Given the description of an element on the screen output the (x, y) to click on. 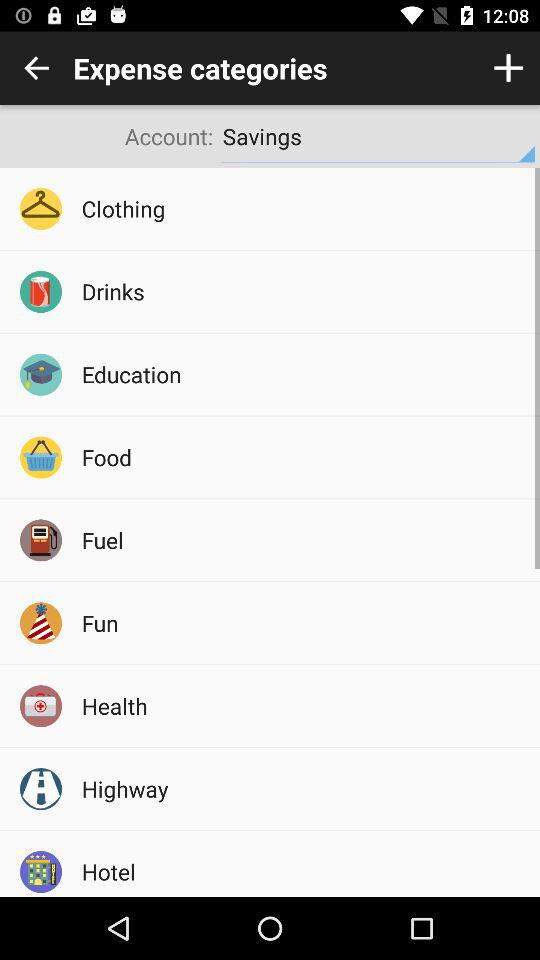
add category (508, 67)
